Given the description of an element on the screen output the (x, y) to click on. 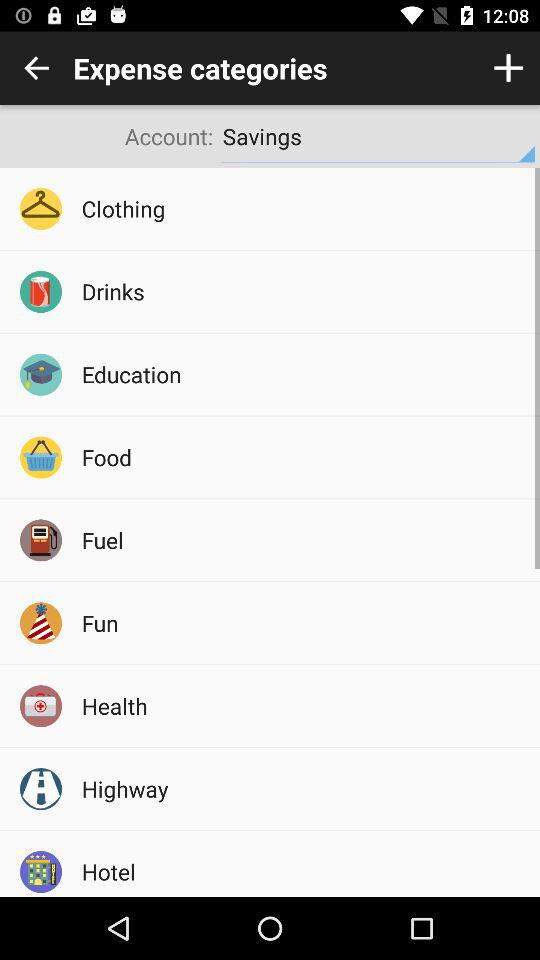
add category (508, 67)
